Given the description of an element on the screen output the (x, y) to click on. 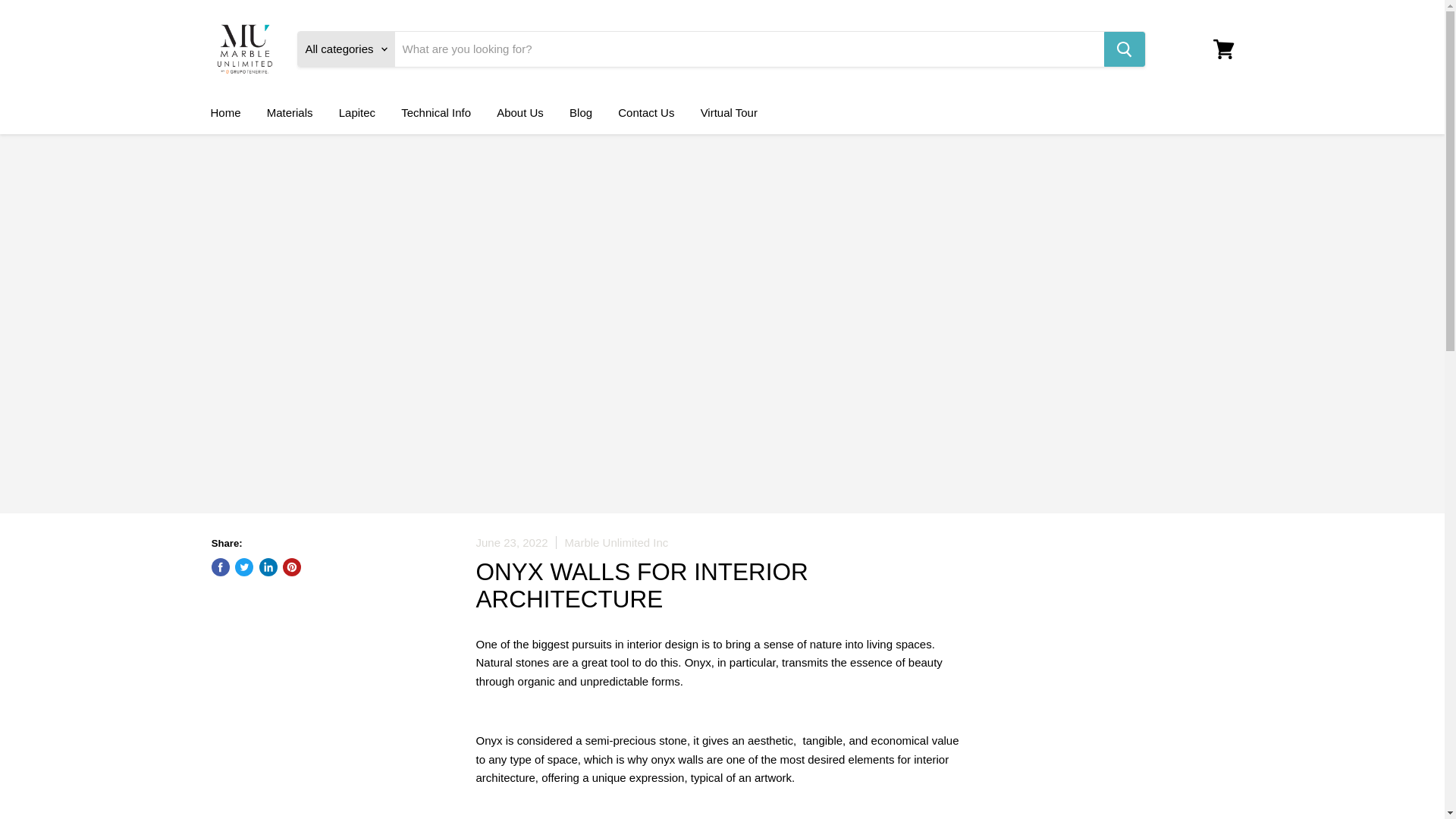
Materials (290, 112)
Technical Info (435, 112)
Virtual Tour (728, 112)
Home (224, 112)
Share on LinkedIn (268, 566)
About Us (519, 112)
Share on Facebook (220, 566)
Blog (580, 112)
Tweet on Twitter (243, 566)
Pin on Pinterest (291, 566)
Contact Us (646, 112)
Lapitec (357, 112)
View cart (1223, 48)
